Given the description of an element on the screen output the (x, y) to click on. 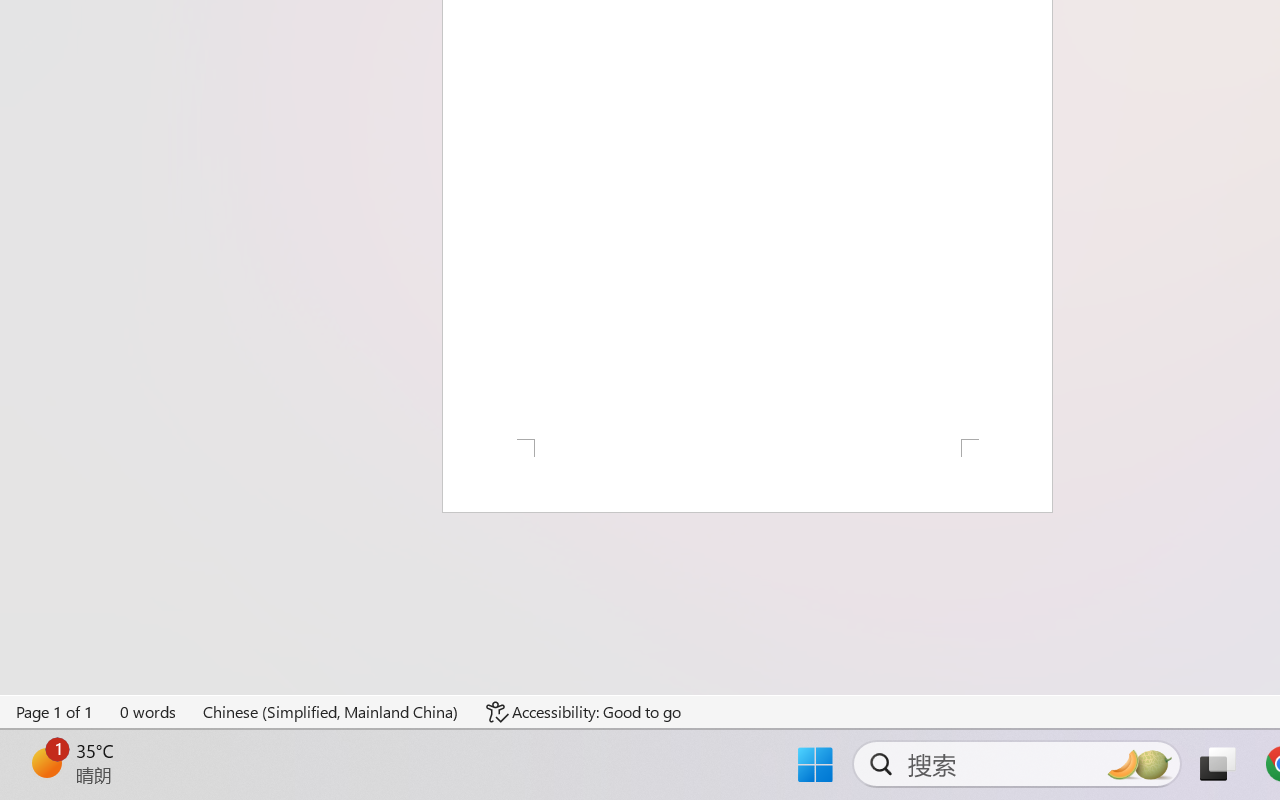
Language Chinese (Simplified, Mainland China) (331, 712)
